Given the description of an element on the screen output the (x, y) to click on. 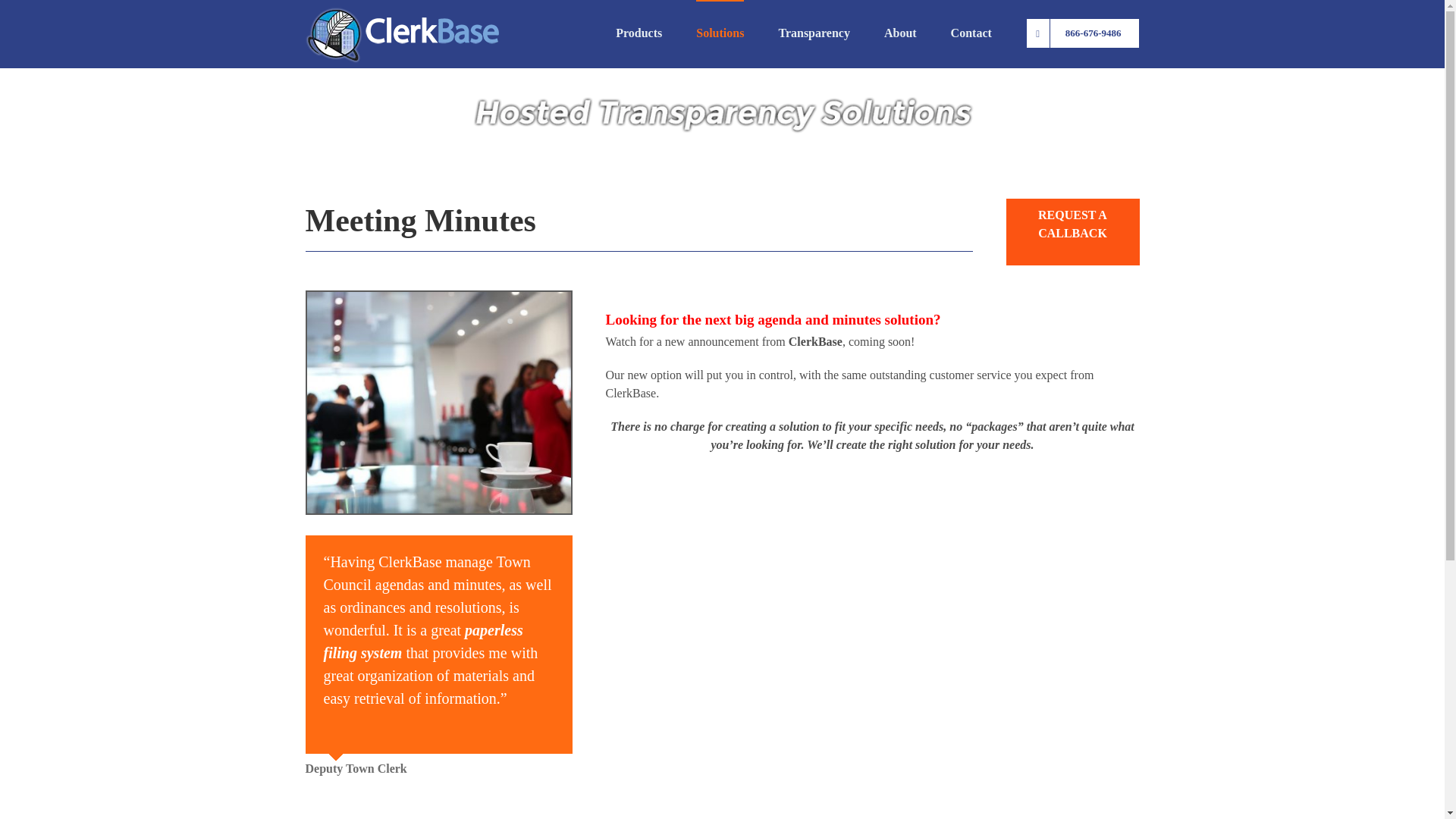
866-676-9486 (1083, 32)
meeting01 (437, 402)
Transparency (813, 32)
Hosted-Transparency-Solutions (721, 114)
